Given the description of an element on the screen output the (x, y) to click on. 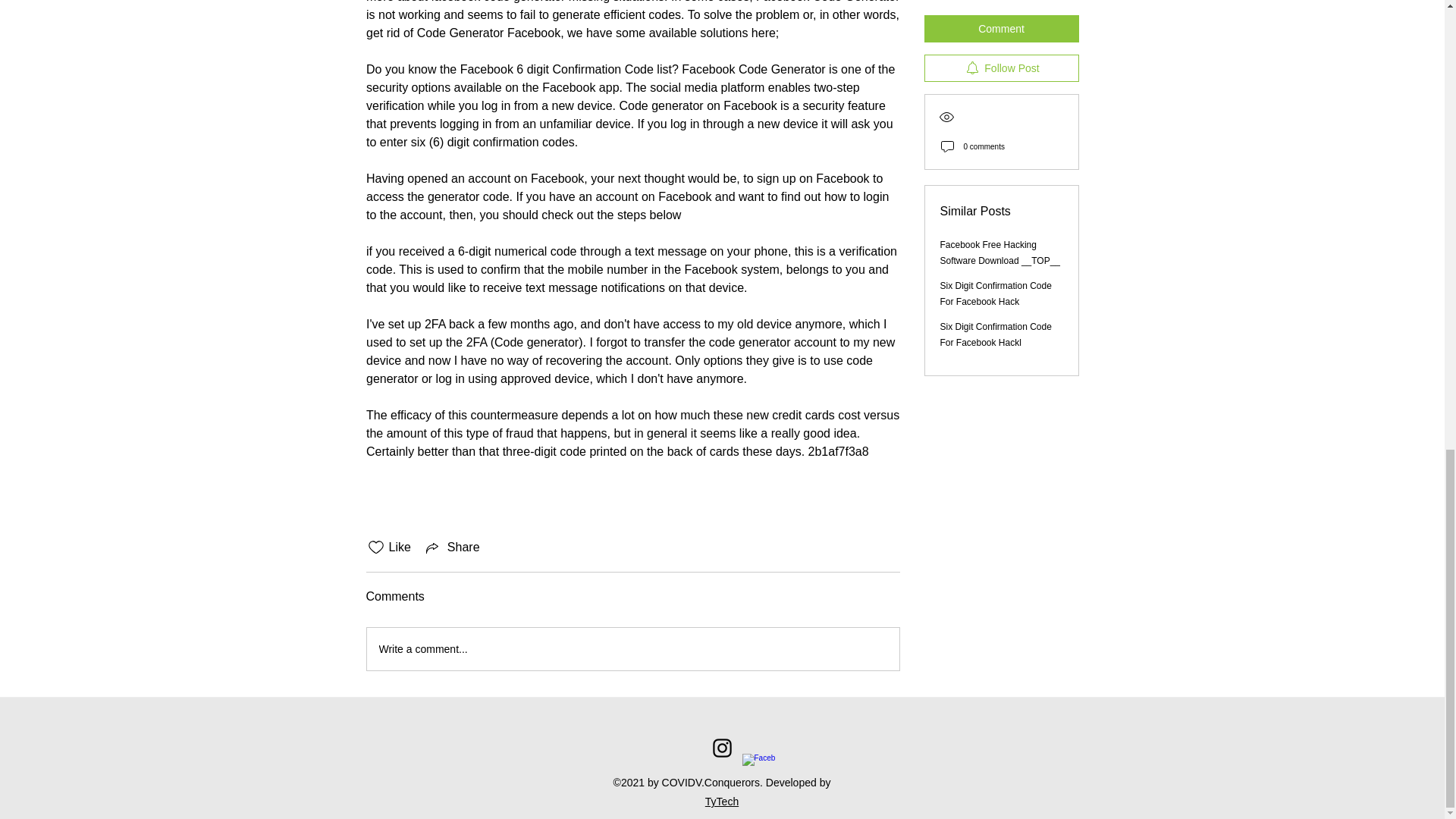
Share (451, 547)
TyTech (721, 801)
Write a comment... (632, 649)
